Given the description of an element on the screen output the (x, y) to click on. 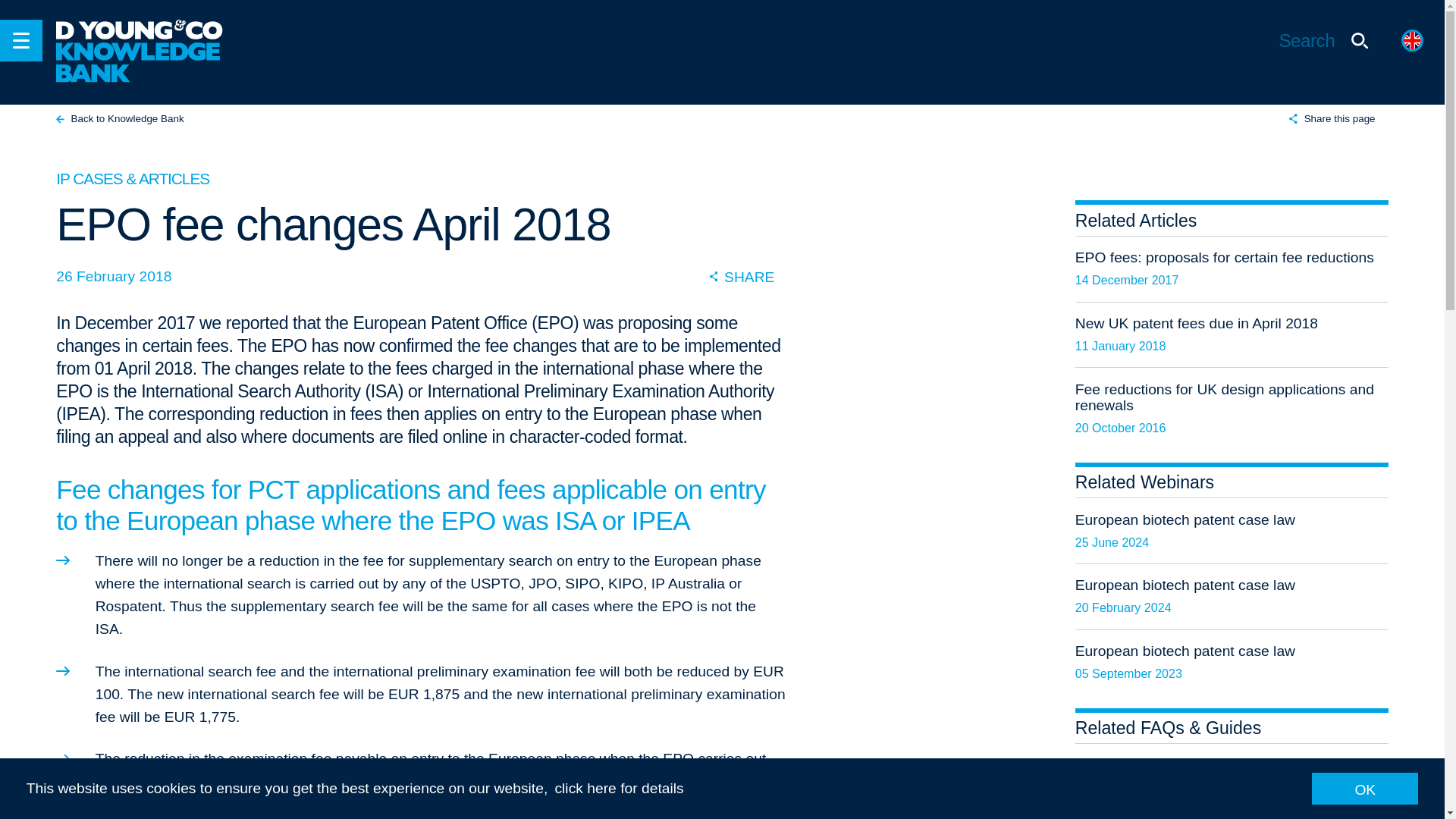
OK (1364, 788)
Entry title (1232, 596)
Entry title (1232, 781)
Entry title (1232, 269)
Entry title (1232, 334)
Entry title (1232, 530)
Entry title (1232, 407)
Entry title (1232, 662)
click here for details (619, 787)
